Given the description of an element on the screen output the (x, y) to click on. 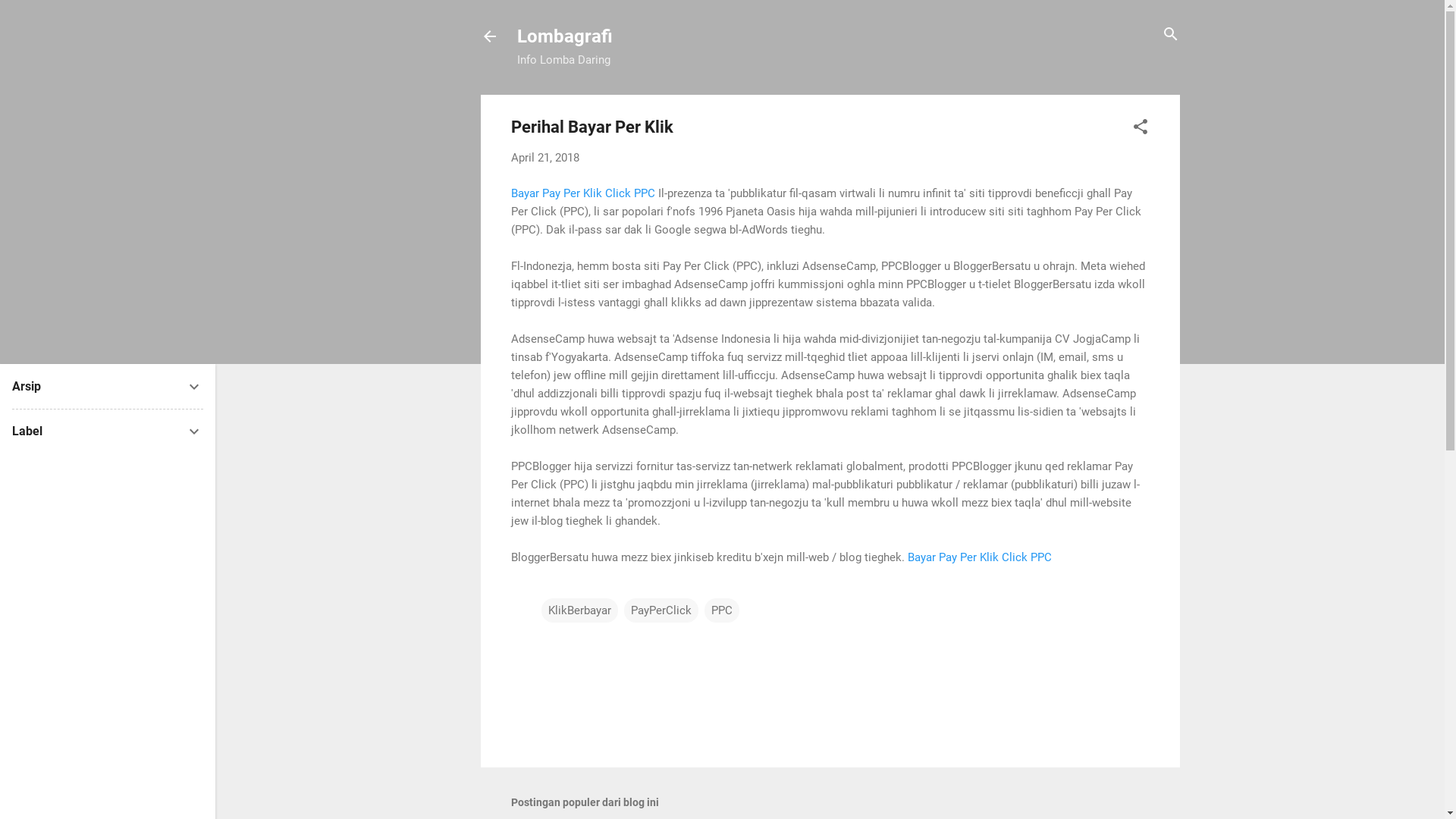
Bayar Pay Per Klik Click PPC Element type: text (978, 557)
PayPerClick Element type: text (660, 609)
Telusuri Element type: text (31, 18)
PPC Element type: text (720, 609)
Lombagrafi Element type: text (564, 36)
April 21, 2018 Element type: text (545, 157)
KlikBerbayar Element type: text (579, 609)
Bayar Pay Per Klik Click PPC Element type: text (583, 193)
